Given the description of an element on the screen output the (x, y) to click on. 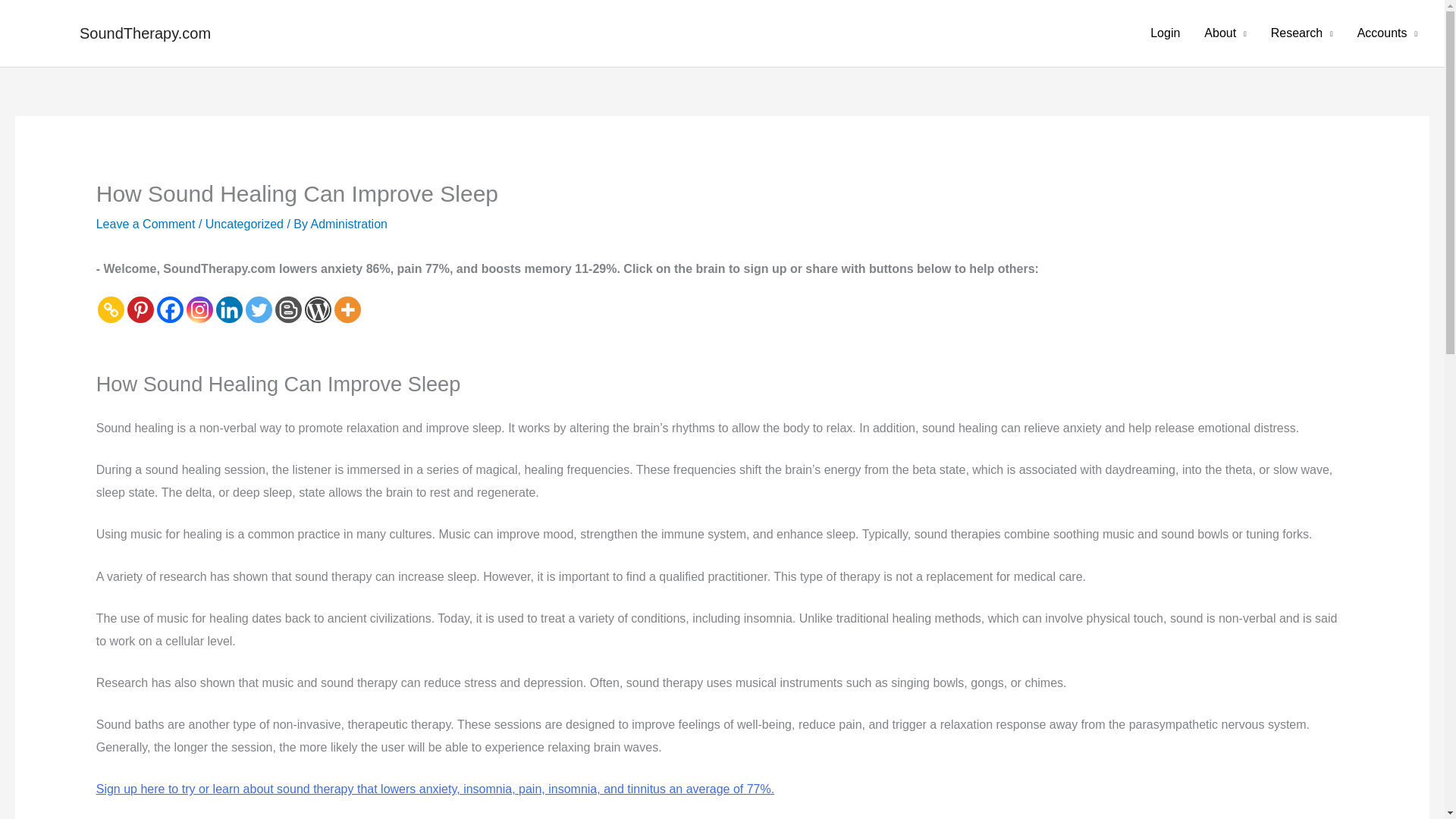
Accounts (1387, 33)
Research (1302, 33)
Facebook (170, 309)
Blogger Post (288, 309)
WordPress (317, 309)
Leave a Comment (145, 223)
About (1224, 33)
Pinterest (141, 309)
Administration (349, 223)
Twitter (259, 309)
Uncategorized (244, 223)
Copy Link (110, 309)
View all posts by Administration (349, 223)
Instagram (199, 309)
More (347, 309)
